Given the description of an element on the screen output the (x, y) to click on. 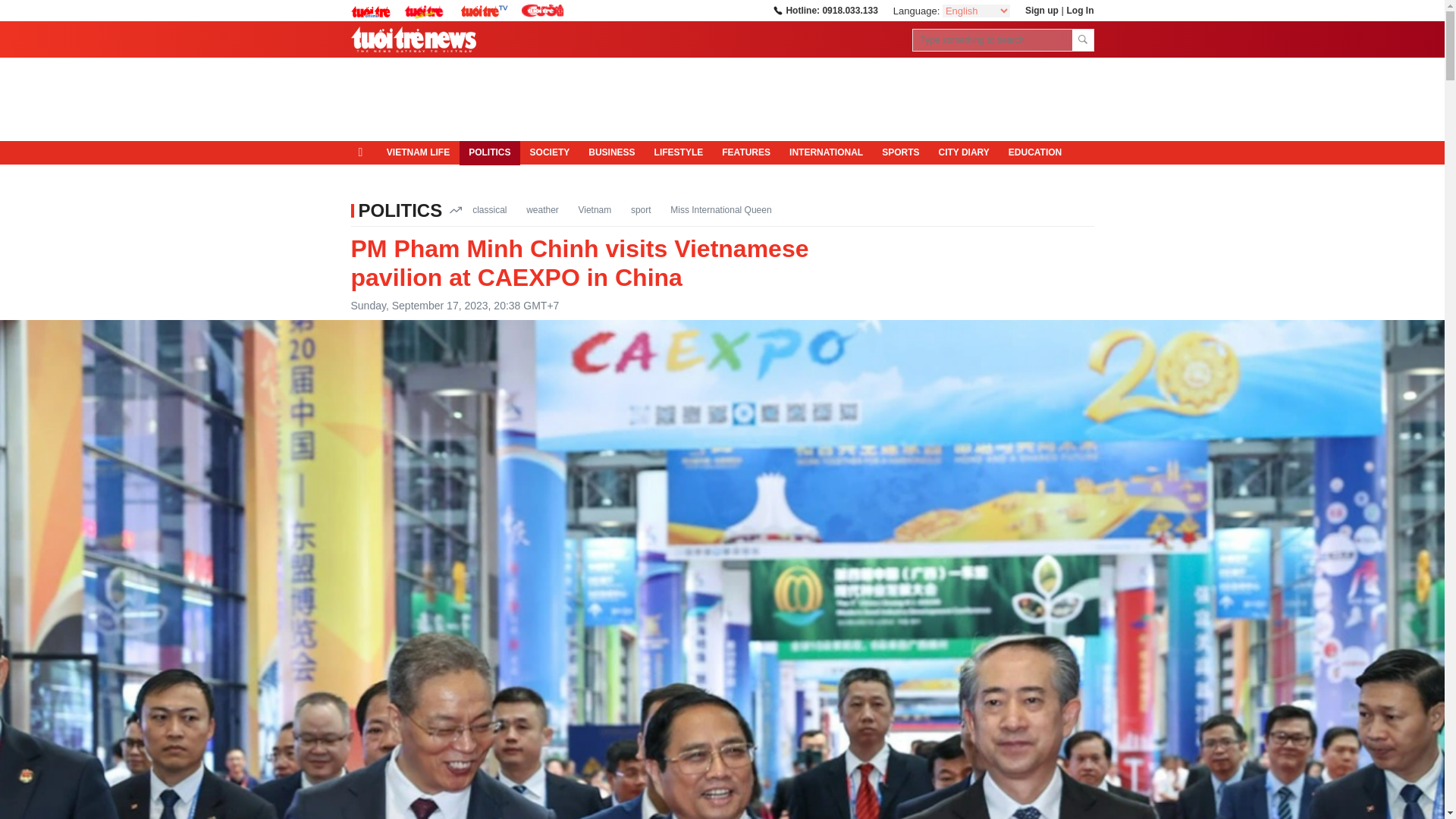
SPORTS (900, 152)
POLITICS (400, 209)
Hot Line (824, 9)
Miss International Queen (720, 209)
INTERNATIONAL (826, 152)
Politics (489, 152)
home (363, 152)
Hotline: 0918.033.133 (824, 9)
Lifestyle (679, 152)
Vietname Life (417, 152)
